Given the description of an element on the screen output the (x, y) to click on. 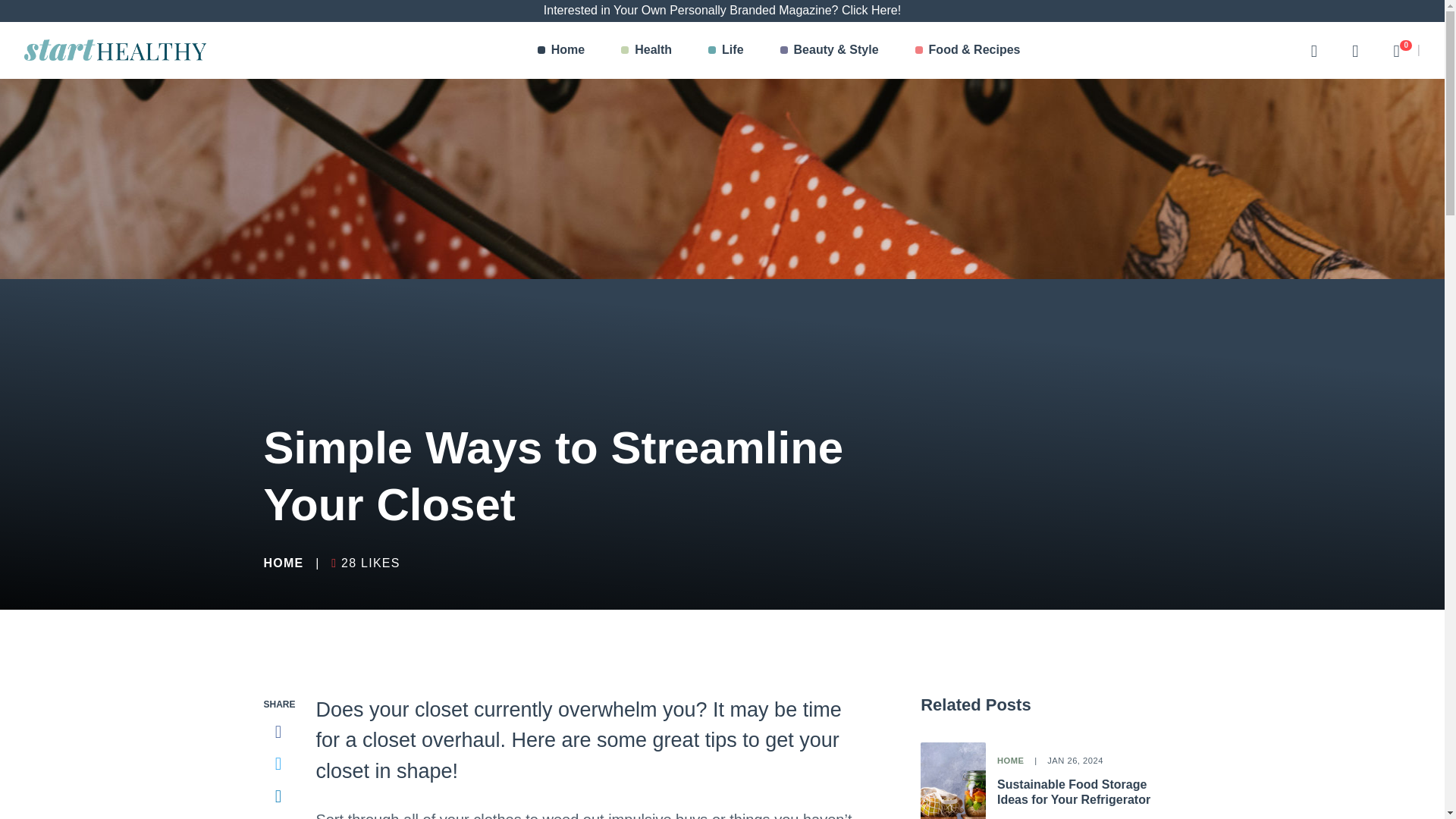
Facebook (278, 732)
Home (560, 50)
LinkedIn (1395, 50)
HOME (278, 795)
Sustainable Food Storage Ideas for Your Refrigerator (283, 562)
More (1073, 791)
Follow (278, 817)
Life (1355, 50)
Health (725, 50)
